Given the description of an element on the screen output the (x, y) to click on. 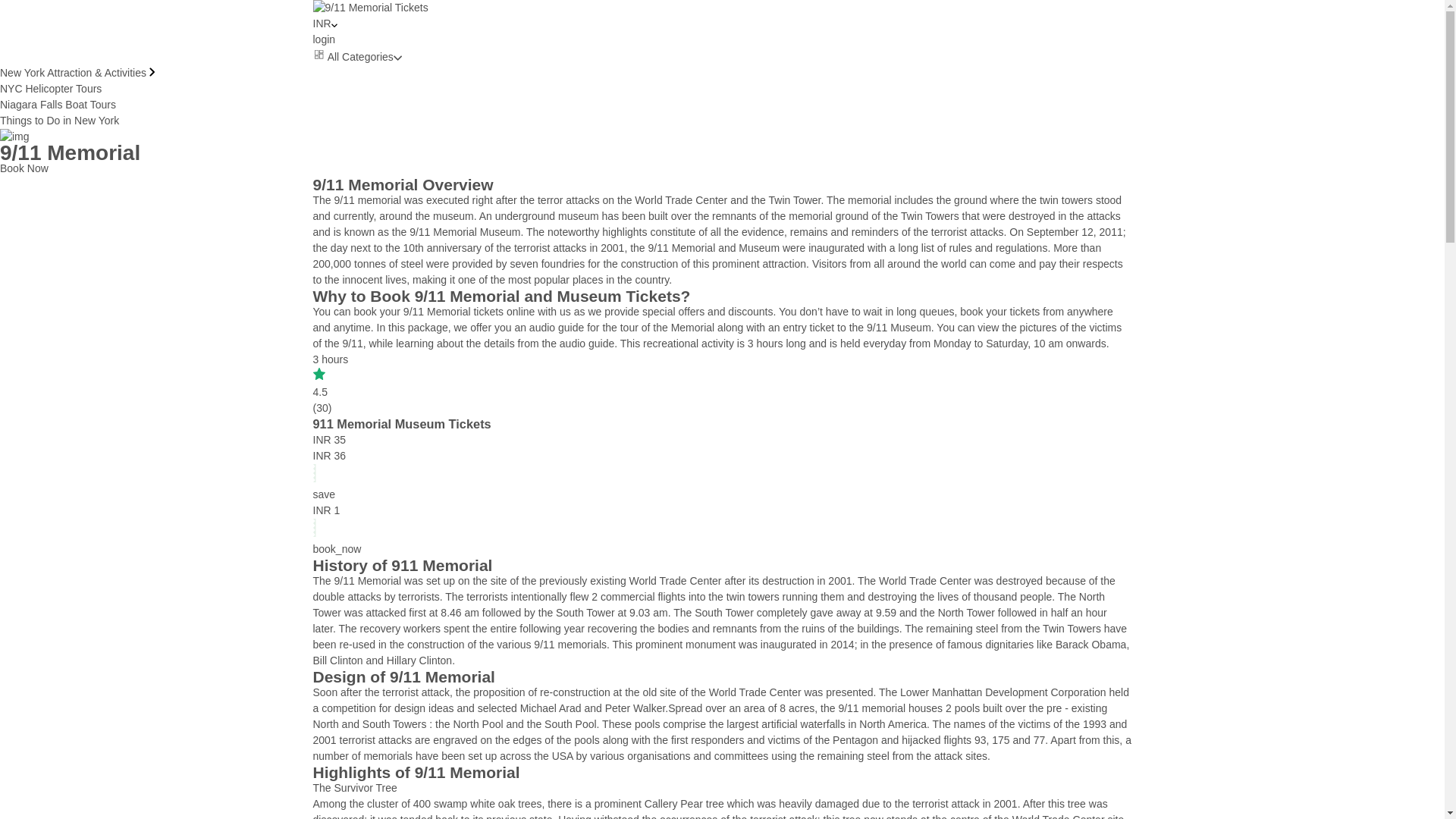
Book Now (24, 168)
Niagara Falls Boat Tours (58, 104)
NYC Helicopter Tours (50, 88)
Things to Do in New York (59, 120)
